Given the description of an element on the screen output the (x, y) to click on. 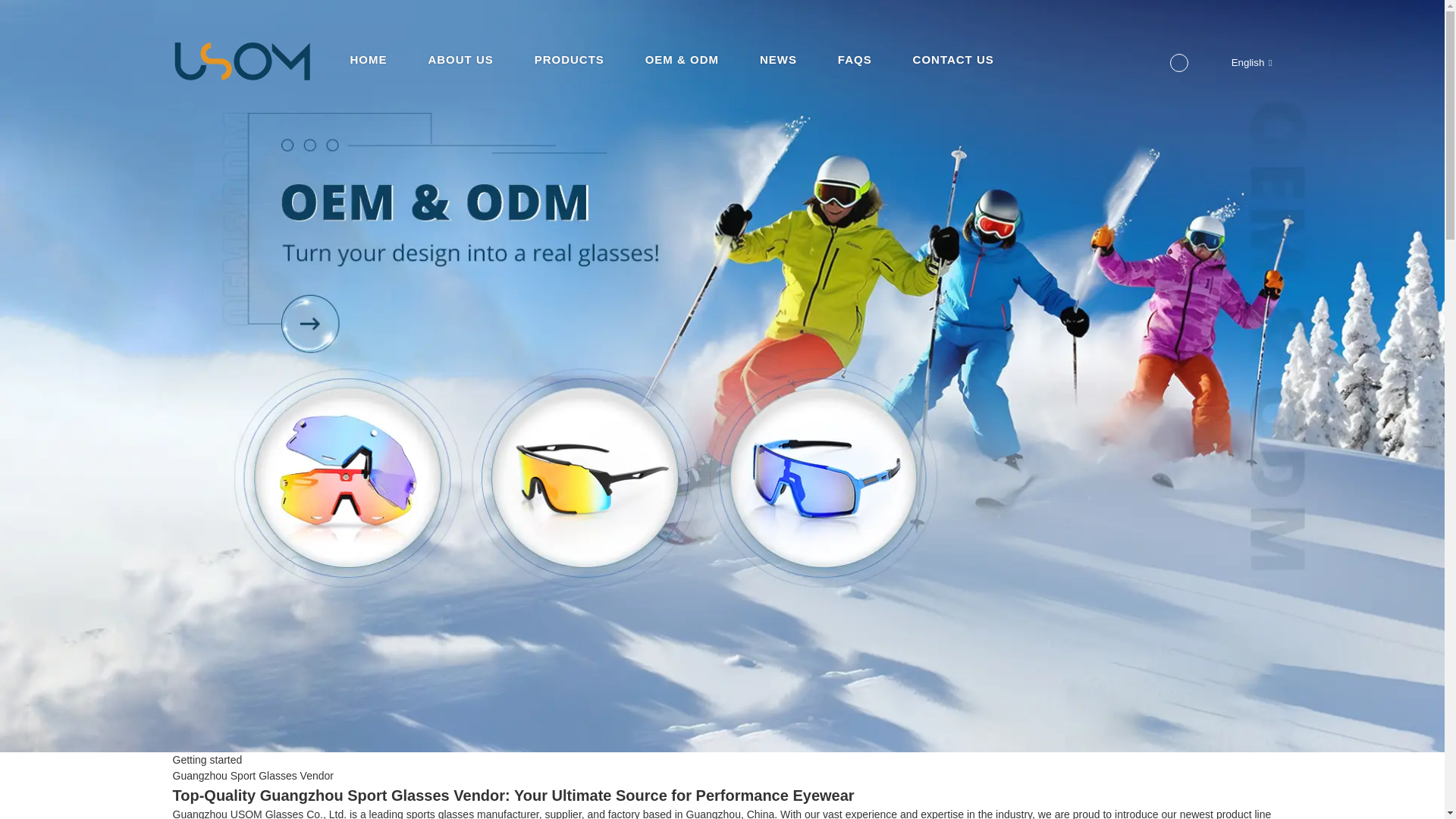
Guangzhou Sport Glasses Vendor (253, 775)
English (1239, 61)
CONTACT US (953, 41)
Getting started (208, 759)
